Given the description of an element on the screen output the (x, y) to click on. 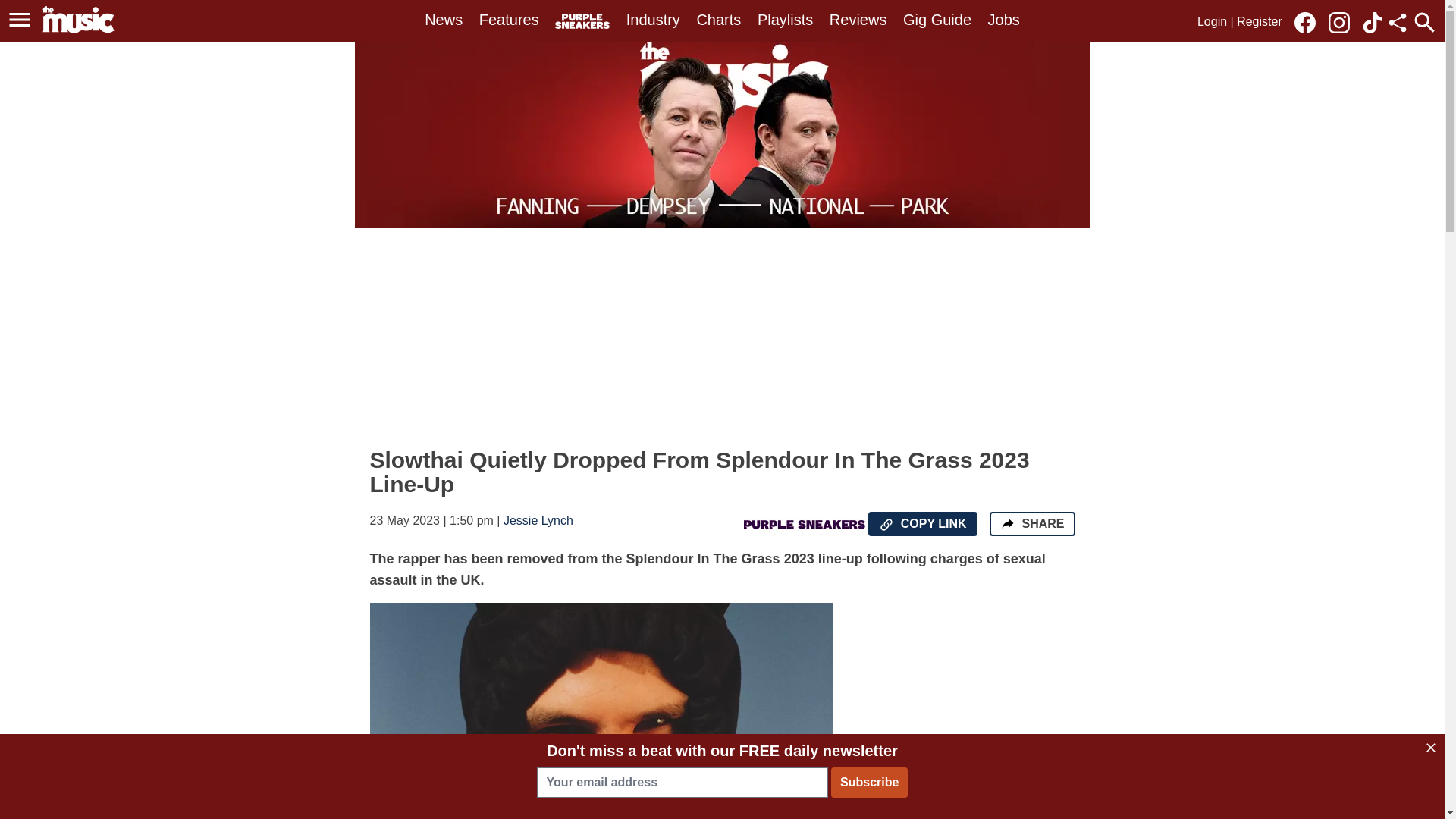
News (444, 19)
Copy the page URL COPY LINK (921, 523)
Share the page SHARE (1032, 523)
Link to our Facebook (1305, 22)
Jessie Lynch (538, 520)
Gig Guide (936, 19)
Link to our Instagram (1342, 21)
Copy the page URL (886, 524)
Reviews (857, 19)
Charts (718, 19)
Features (508, 19)
Login (1211, 21)
Link to our Instagram (1338, 22)
Share this page (1397, 22)
Register (1259, 21)
